Given the description of an element on the screen output the (x, y) to click on. 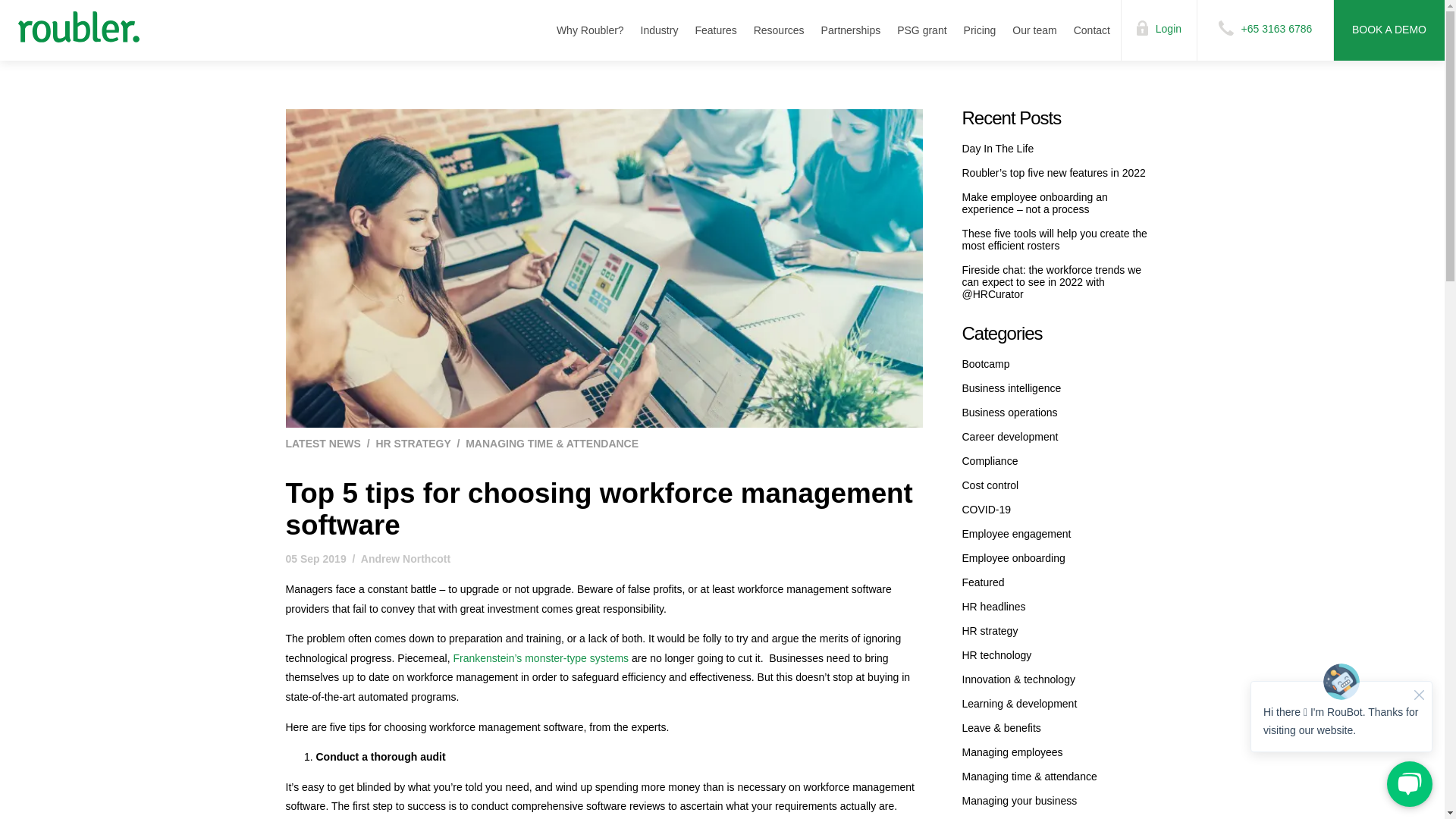
Partnerships (850, 30)
Resources (779, 30)
Our team (1034, 30)
PSG grant (921, 30)
Why Roubler? (590, 30)
